Given the description of an element on the screen output the (x, y) to click on. 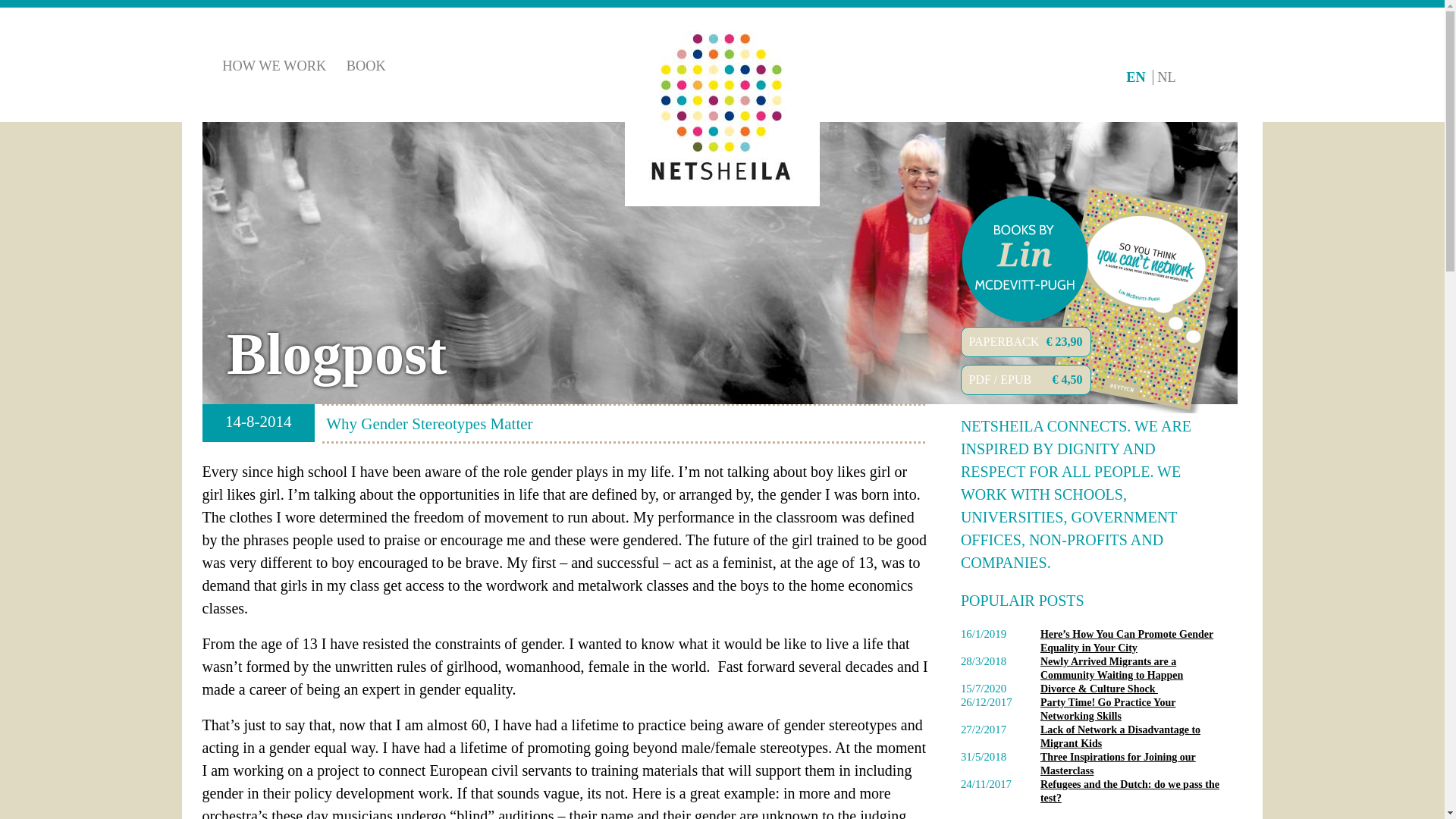
NL (1166, 77)
Party Time! Go Practice Your Networking Skills (1108, 708)
Refugees and the Dutch: do we pass the test? (1130, 790)
BOOK (365, 65)
EN (1139, 77)
HOW WE WORK (274, 65)
Newly Arrived Migrants are a Community Waiting to Happen (1111, 668)
Three Inspirations for Joining our Masterclass (1118, 763)
Lack of Network a Disadvantage to Migrant Kids (1120, 736)
